Given the description of an element on the screen output the (x, y) to click on. 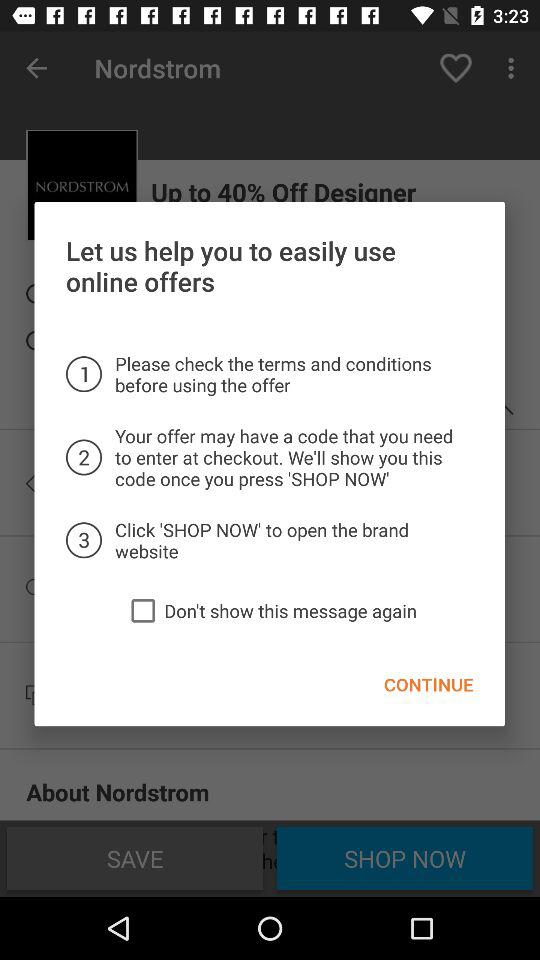
do n't show again toggle (143, 610)
